Given the description of an element on the screen output the (x, y) to click on. 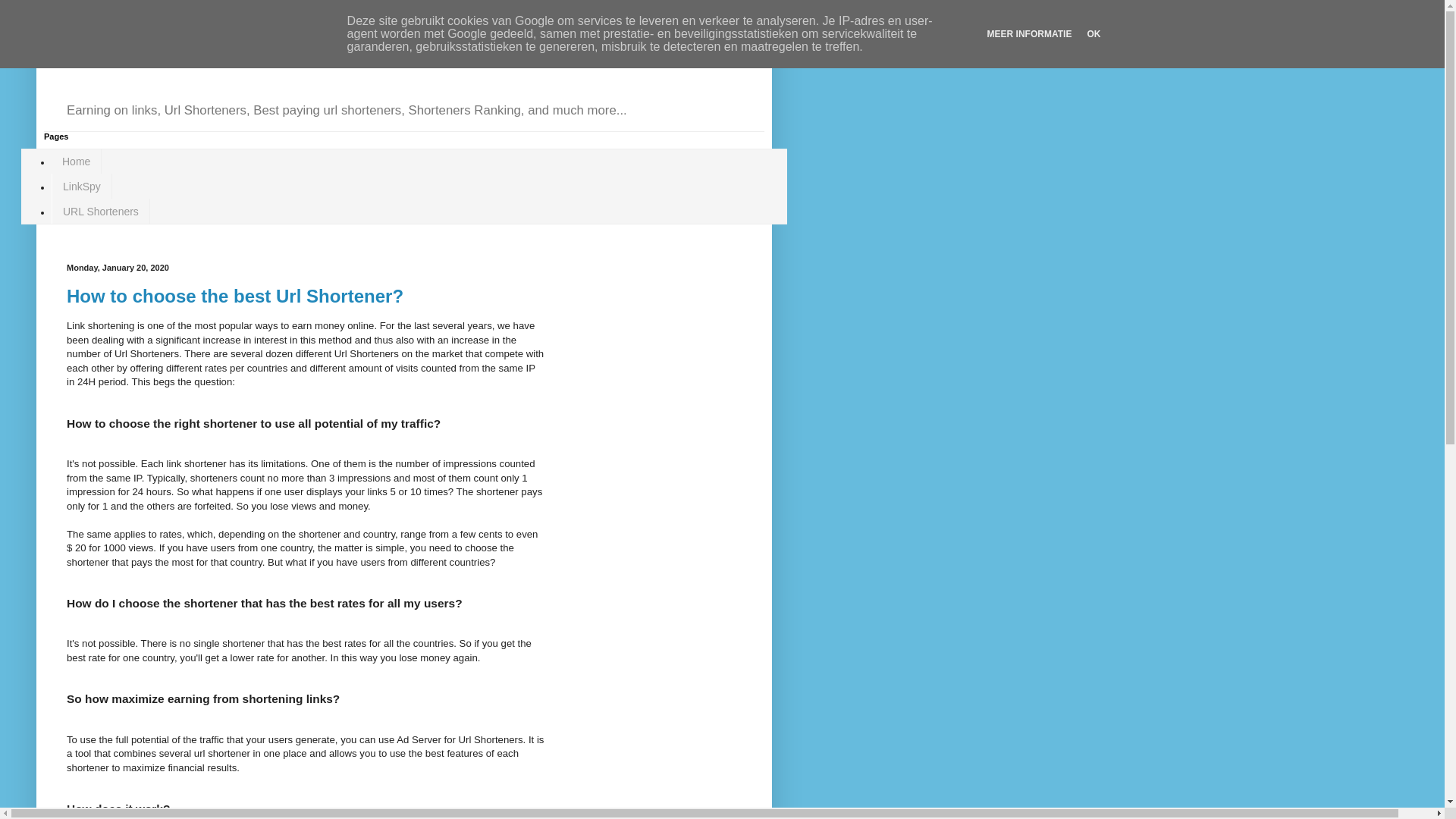
URL Shorteners Element type: text (100, 210)
How to choose the best Url Shortener? Element type: text (234, 295)
LinkSpy Element type: text (81, 185)
OK Element type: text (1093, 33)
MEER INFORMATIE Element type: text (1029, 33)
Home Element type: text (76, 161)
